Given the description of an element on the screen output the (x, y) to click on. 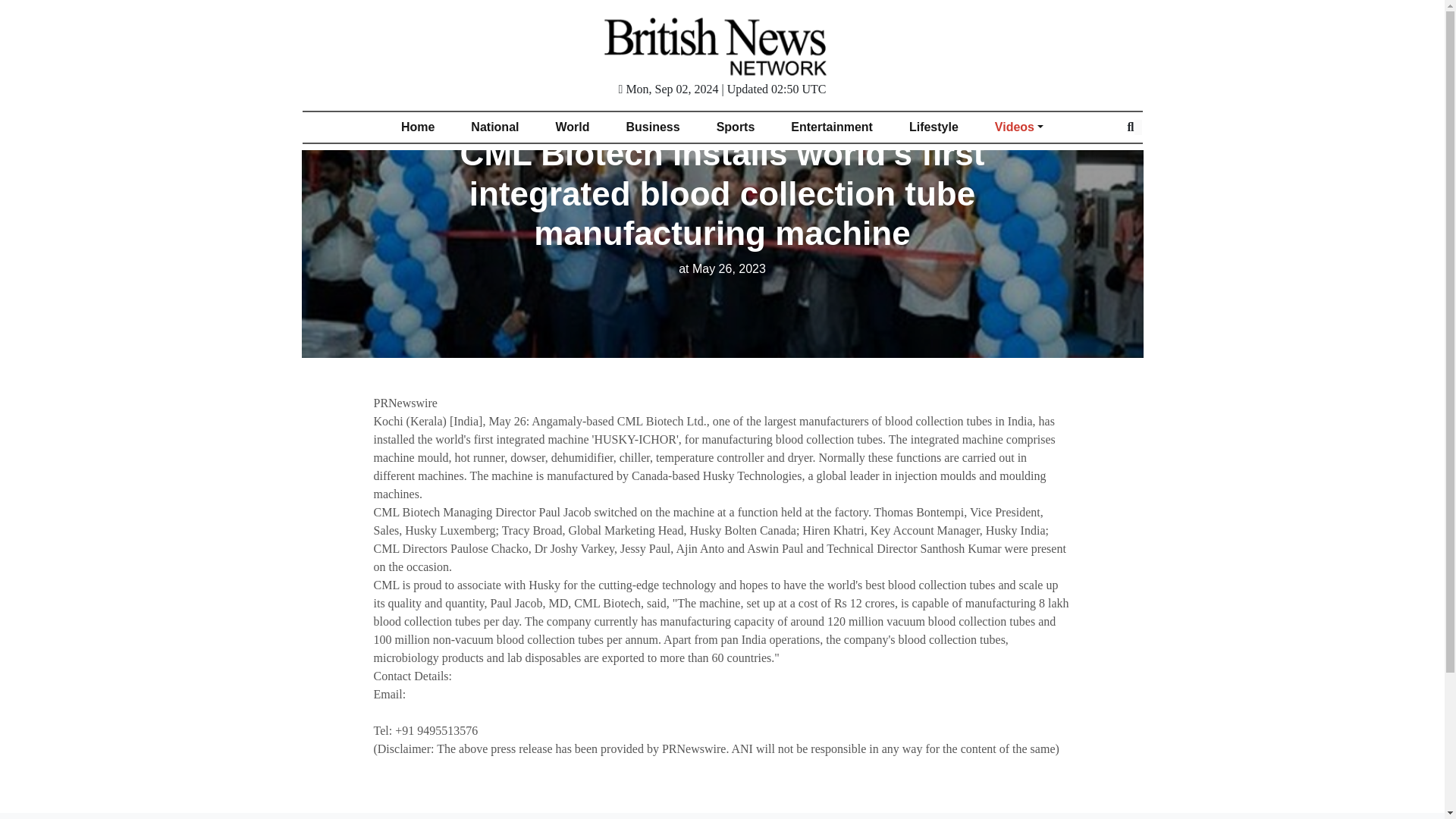
National (494, 127)
May 26, 2023 (721, 268)
Videos (1018, 127)
Business (653, 127)
World (572, 127)
Entertainment (832, 127)
Home (417, 127)
Sports (735, 127)
Lifestyle (933, 127)
